Given the description of an element on the screen output the (x, y) to click on. 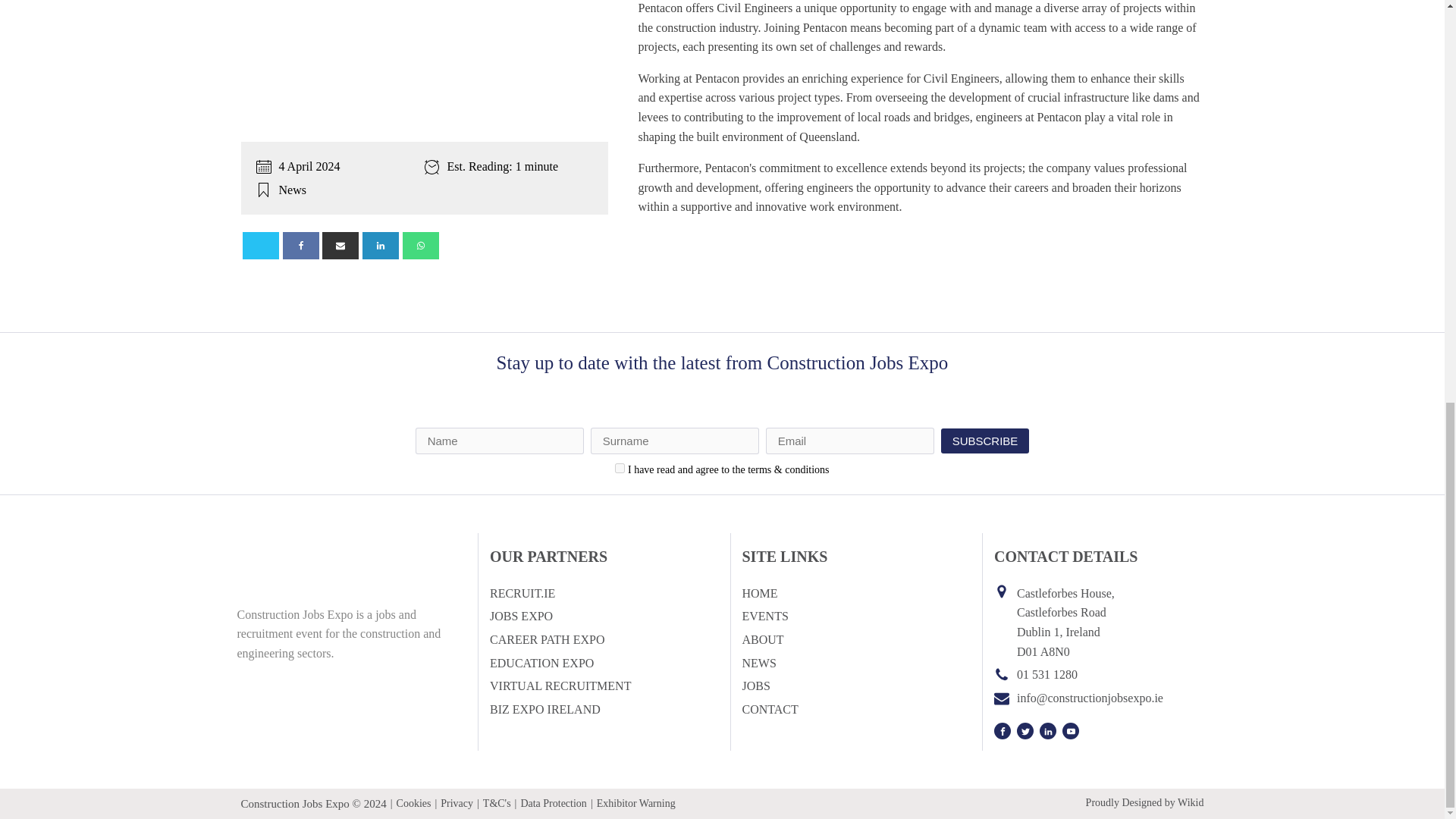
News (292, 137)
EVENTS (764, 616)
1 (619, 468)
VIRTUAL RECRUITMENT (559, 686)
Subscribe (984, 440)
CAREER PATH EXPO (546, 639)
JOBS EXPO (521, 616)
HOME (759, 593)
RECRUIT.IE (521, 593)
Subscribe (984, 440)
